Given the description of an element on the screen output the (x, y) to click on. 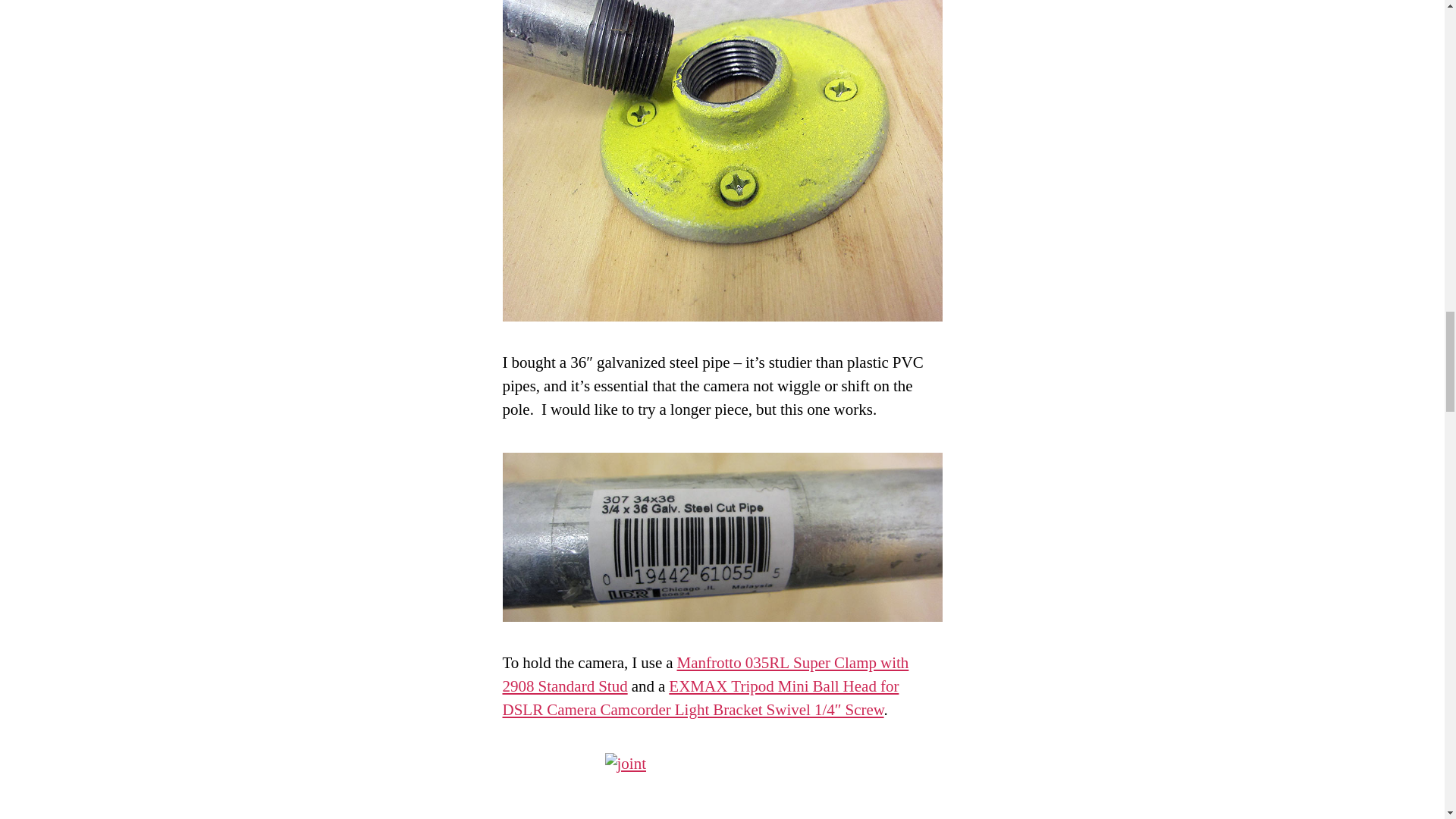
Manfrotto 035RL Super Clamp with 2908 Standard Stud (705, 674)
